Given the description of an element on the screen output the (x, y) to click on. 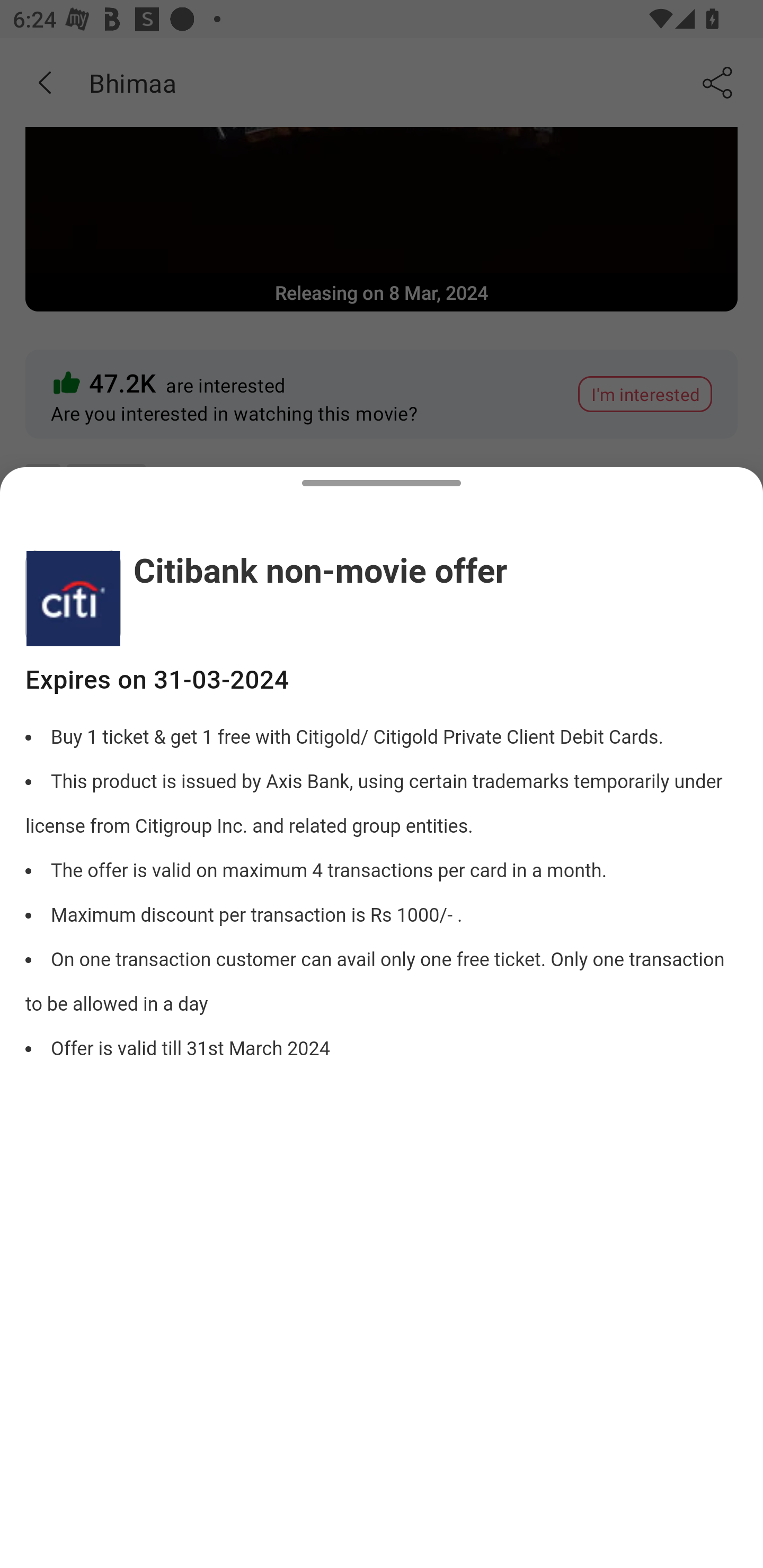
Expires on 31-03-2024 (381, 680)
